Given the description of an element on the screen output the (x, y) to click on. 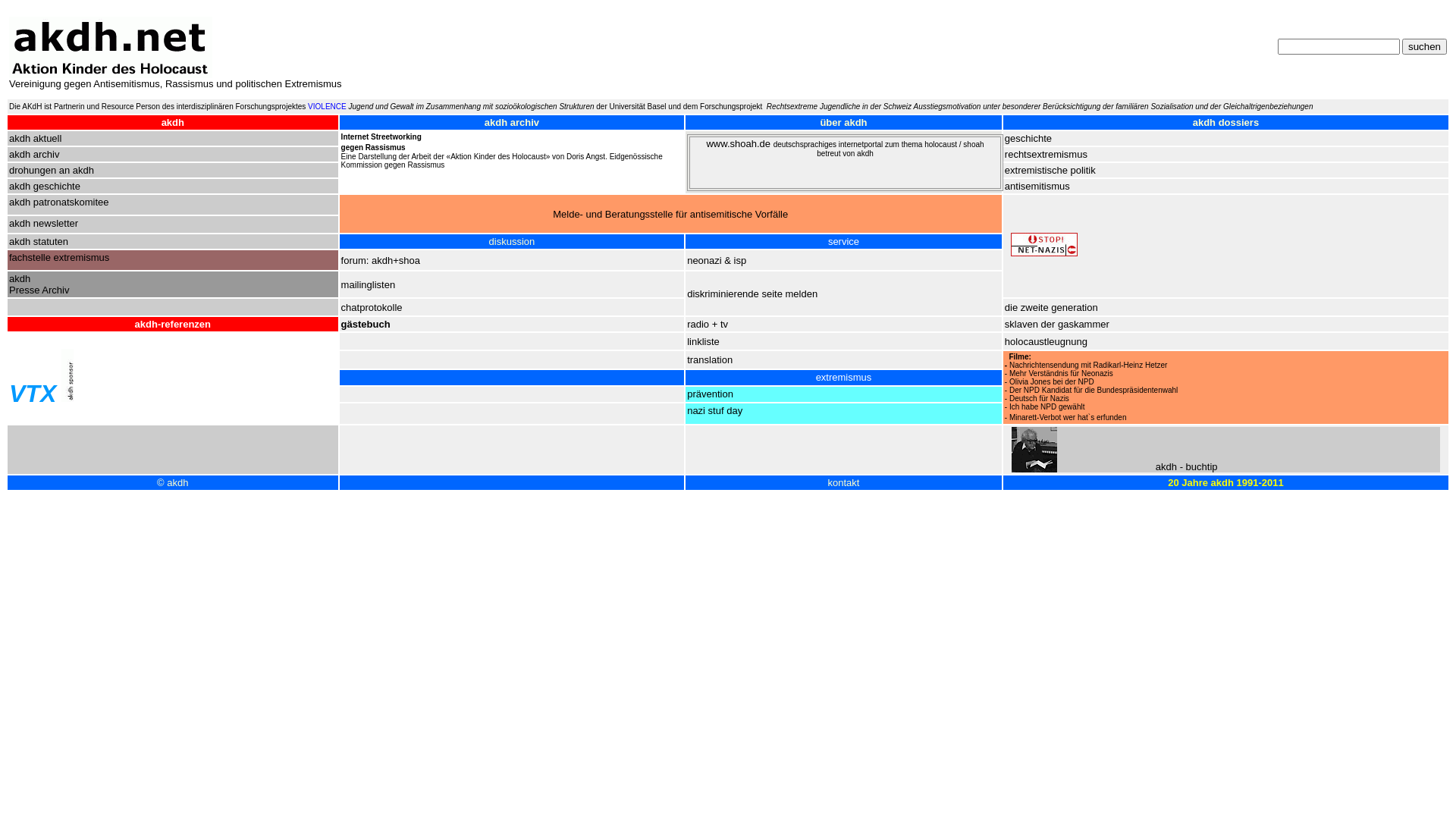
die zweite generation Element type: text (1051, 307)
www.shoah.de Element type: text (739, 143)
nazi stuf day Element type: text (714, 410)
akdh-referenzen Element type: text (172, 323)
akdh - buchtip Element type: text (1186, 466)
antisemitismus Element type: text (1037, 185)
Minarett-Verbot wer hat`s erfunden Element type: text (1067, 417)
akdh archiv Element type: text (511, 122)
kontakt Element type: text (843, 482)
akdh geschichte Element type: text (44, 185)
neonazi & isp Element type: text (716, 260)
akdh newsletter Element type: text (43, 223)
chatprotokolle Element type: text (371, 307)
VTX Element type: text (32, 393)
radio + tv Element type: text (707, 323)
geschichte Element type: text (1027, 138)
drohungen an akdh Element type: text (51, 169)
akdh statuten Element type: text (38, 241)
mailinglisten Element type: text (368, 284)
holocaustleugnung Element type: text (1045, 340)
akdh dossiers Element type: text (1225, 122)
seite melden Element type: text (789, 293)
rechtsextremismus Element type: text (1045, 154)
translation Element type: text (709, 359)
Internet Streetworking
gegen Rassismus Element type: text (381, 141)
extremistische politik Element type: text (1049, 169)
diskriminierende Element type: text (724, 293)
forum: akdh+shoa Element type: text (380, 260)
fachstelle extremismus Element type: text (59, 257)
VIOLENCE Element type: text (326, 106)
akdh archiv Element type: text (34, 154)
sklaven der gaskammer Element type: text (1056, 323)
linkliste Element type: text (703, 339)
akdh aktuell Element type: text (35, 138)
akdh
Presse Archiv Element type: text (39, 284)
akdh patronatskomitee Element type: text (59, 201)
Olivia Jones bei der NPD Element type: text (1051, 381)
Nachrichtensendung mit Radikarl-Heinz Hetzer Element type: text (1088, 364)
